Given the description of an element on the screen output the (x, y) to click on. 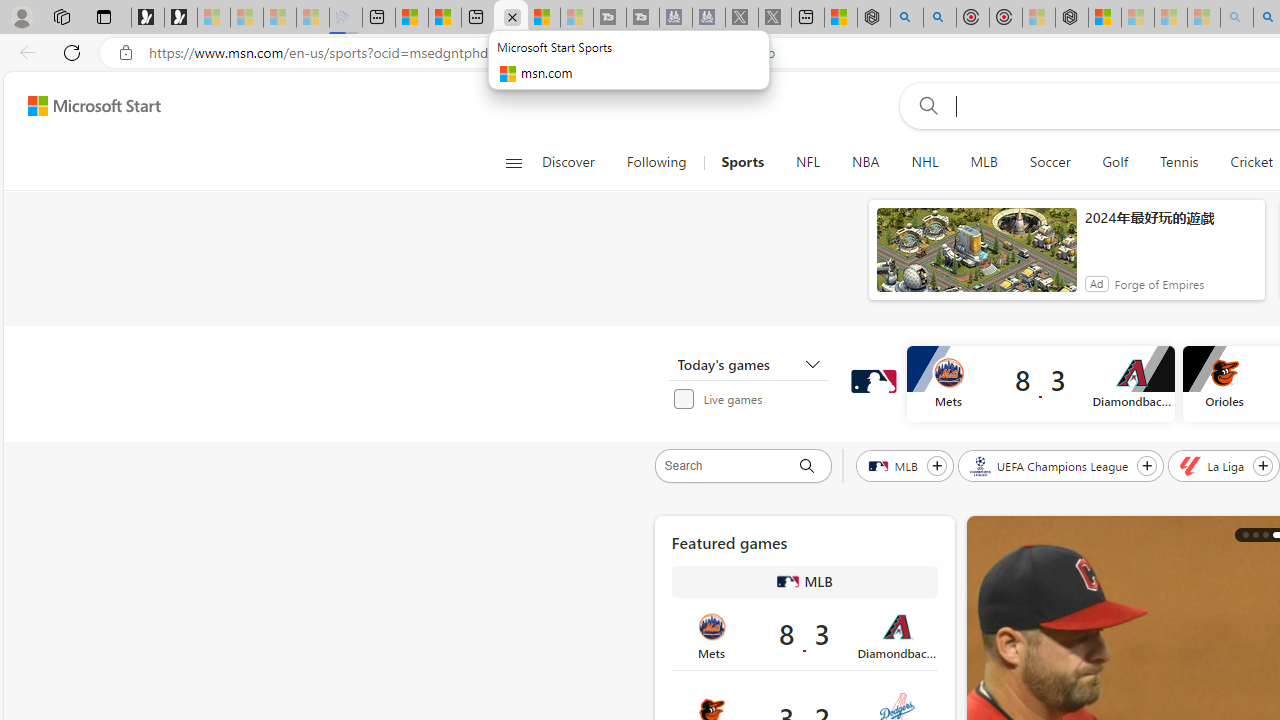
NHL (924, 162)
Soccer (1049, 162)
Follow UEFA Champions League (1147, 465)
This 15-Year-Old Just Ran a 4:05 Mile (1265, 534)
Tennis (1179, 162)
Live games Unchecked (753, 398)
